Given the description of an element on the screen output the (x, y) to click on. 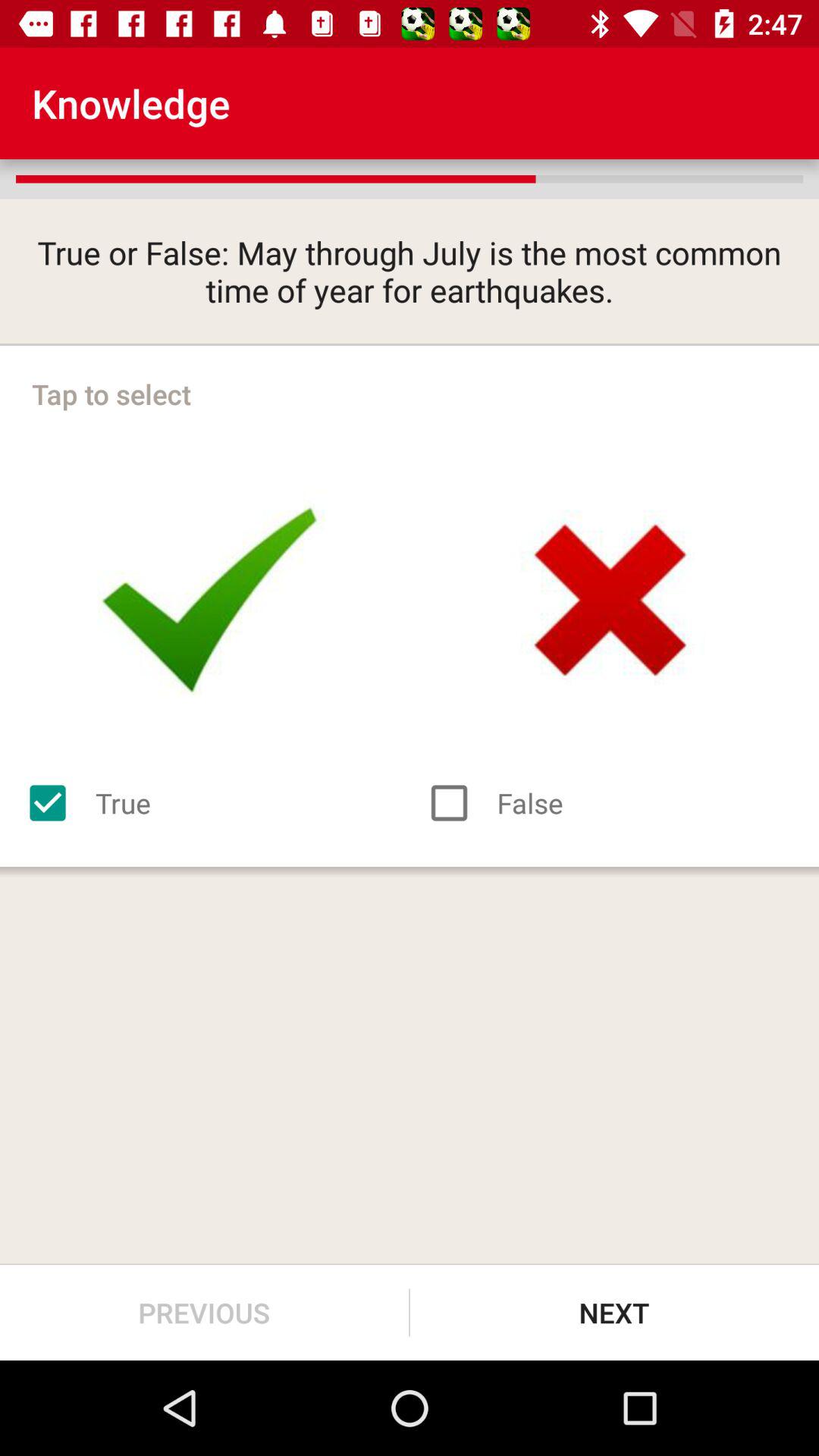
swipe until the next item (614, 1312)
